Given the description of an element on the screen output the (x, y) to click on. 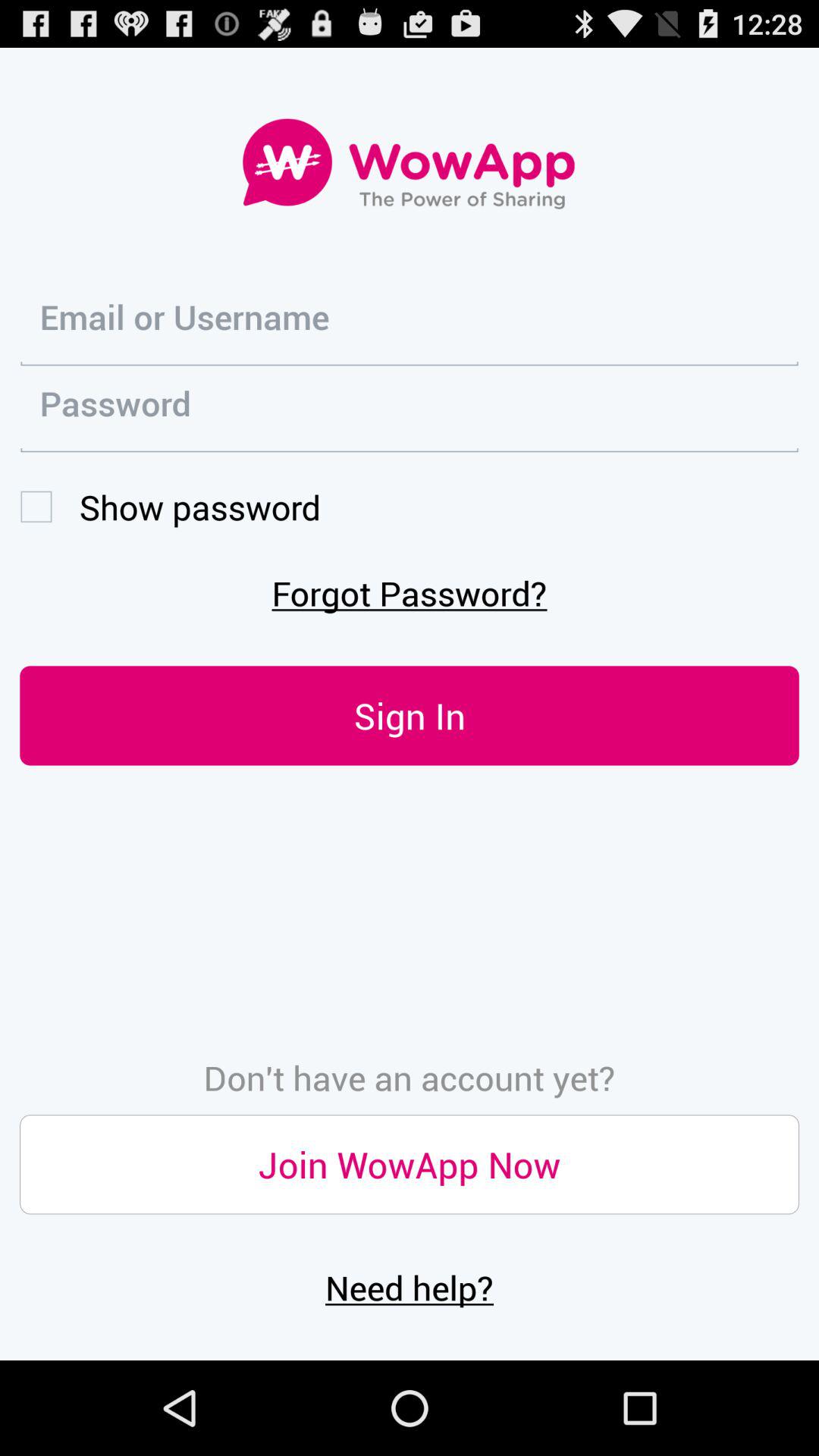
swipe until the forgot password? icon (409, 592)
